Given the description of an element on the screen output the (x, y) to click on. 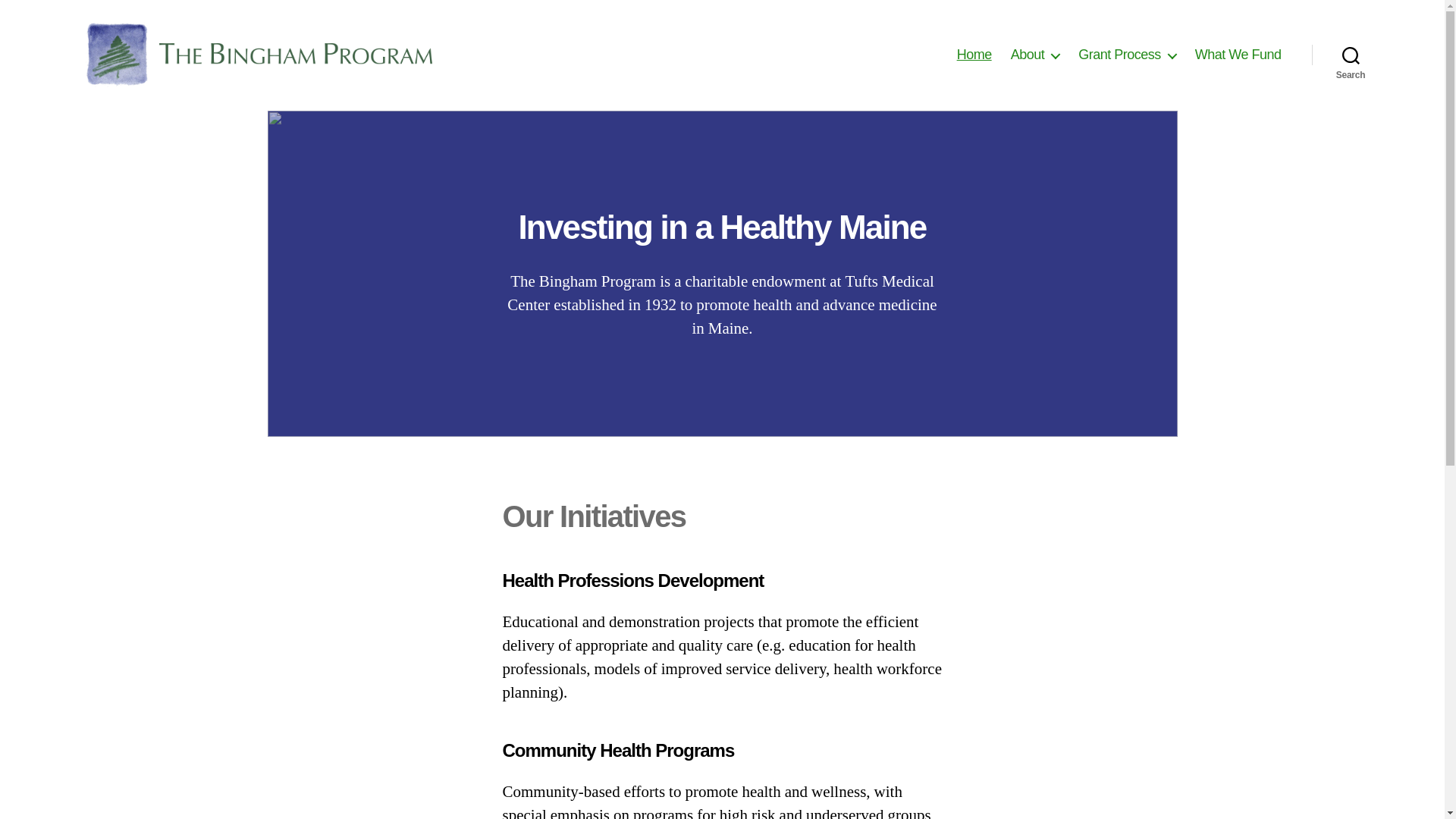
About (1034, 54)
What We Fund (1238, 54)
Home (973, 54)
Search (1350, 55)
Grant Process (1127, 54)
